Given the description of an element on the screen output the (x, y) to click on. 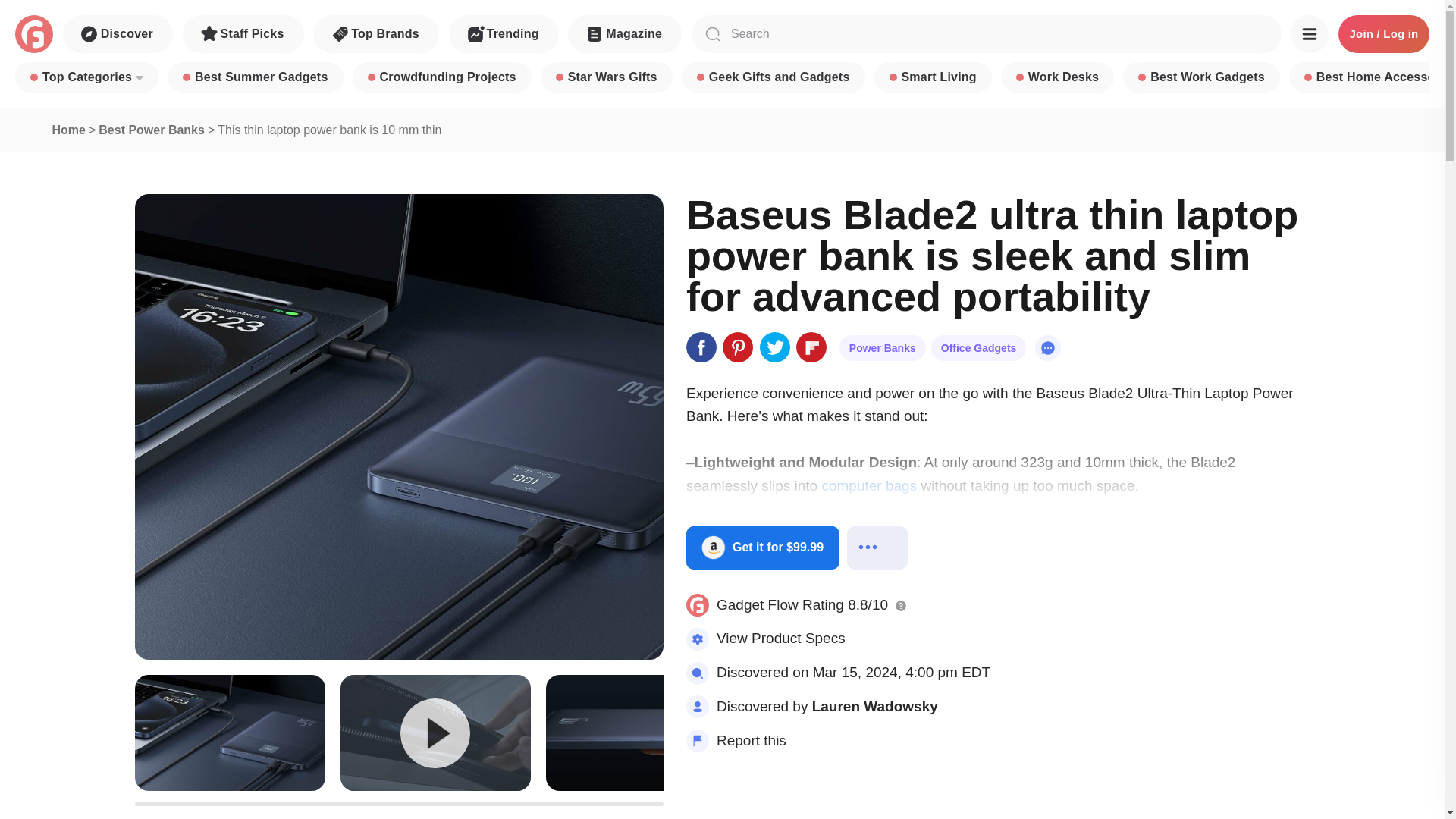
Best Work Gadgets (1200, 77)
Top Categories (86, 77)
Discover (117, 34)
Star Wars Gifts (606, 77)
Gadget Flow (33, 34)
Best Summer Gadgets (254, 77)
Geek Gifts and Gadgets (772, 77)
Top Brands (376, 34)
Staff Picks (243, 34)
Trending (503, 34)
Work Desks (1057, 77)
Smart Living (932, 77)
Magazine (624, 34)
Crowdfunding Projects (441, 77)
